Given the description of an element on the screen output the (x, y) to click on. 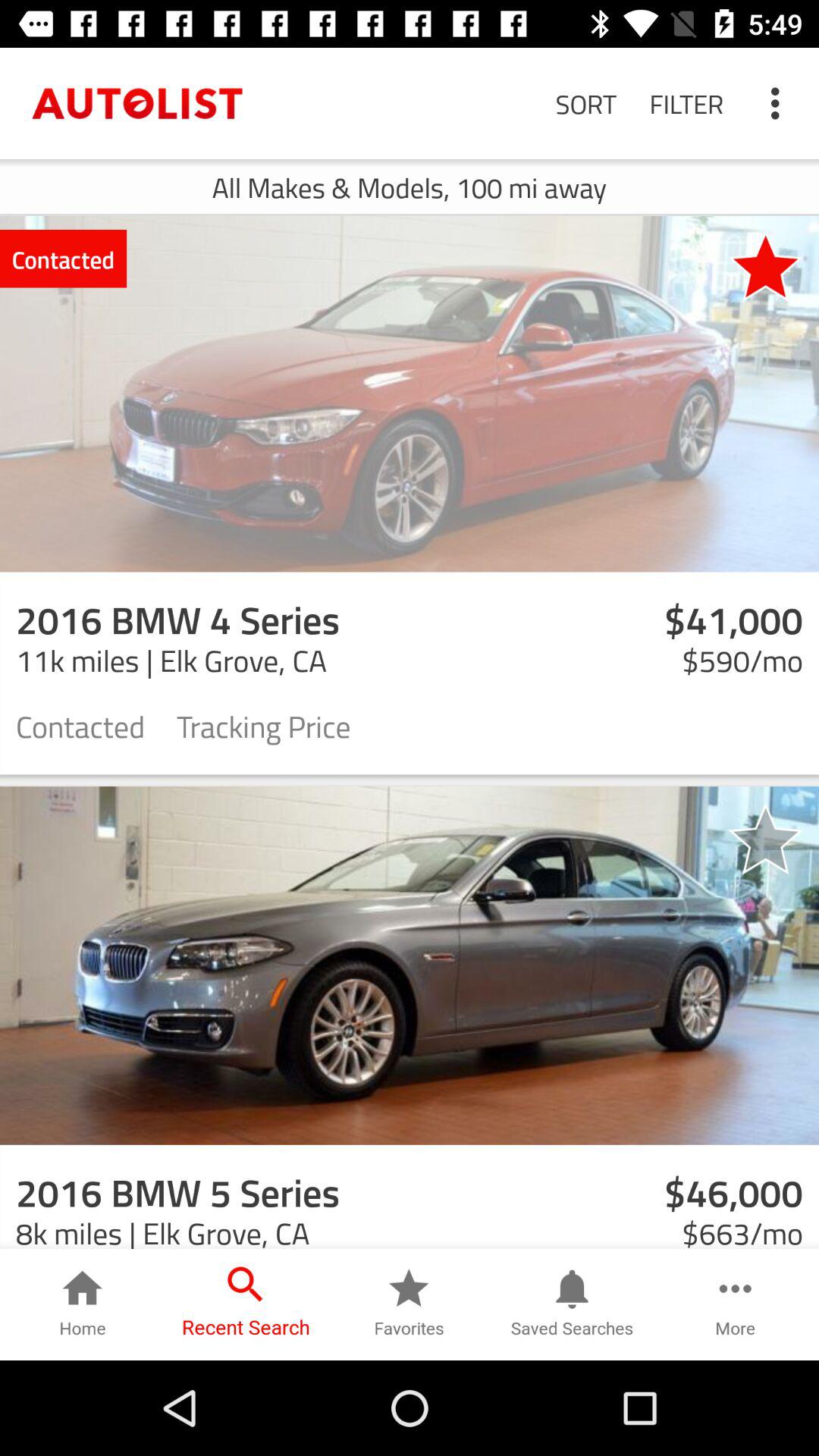
scroll until all makes models (409, 186)
